Given the description of an element on the screen output the (x, y) to click on. 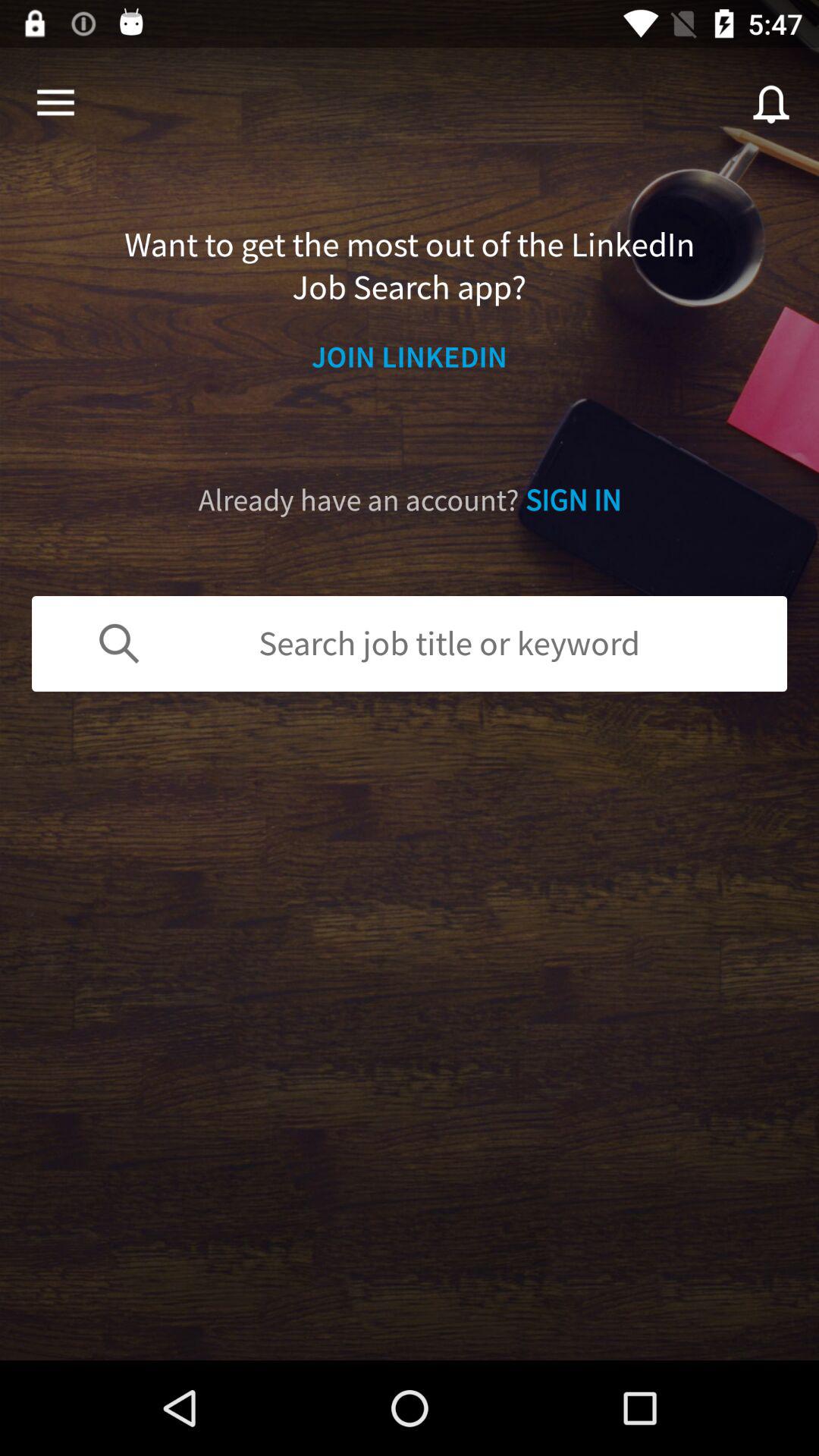
flip until the join linkedin (409, 356)
